Given the description of an element on the screen output the (x, y) to click on. 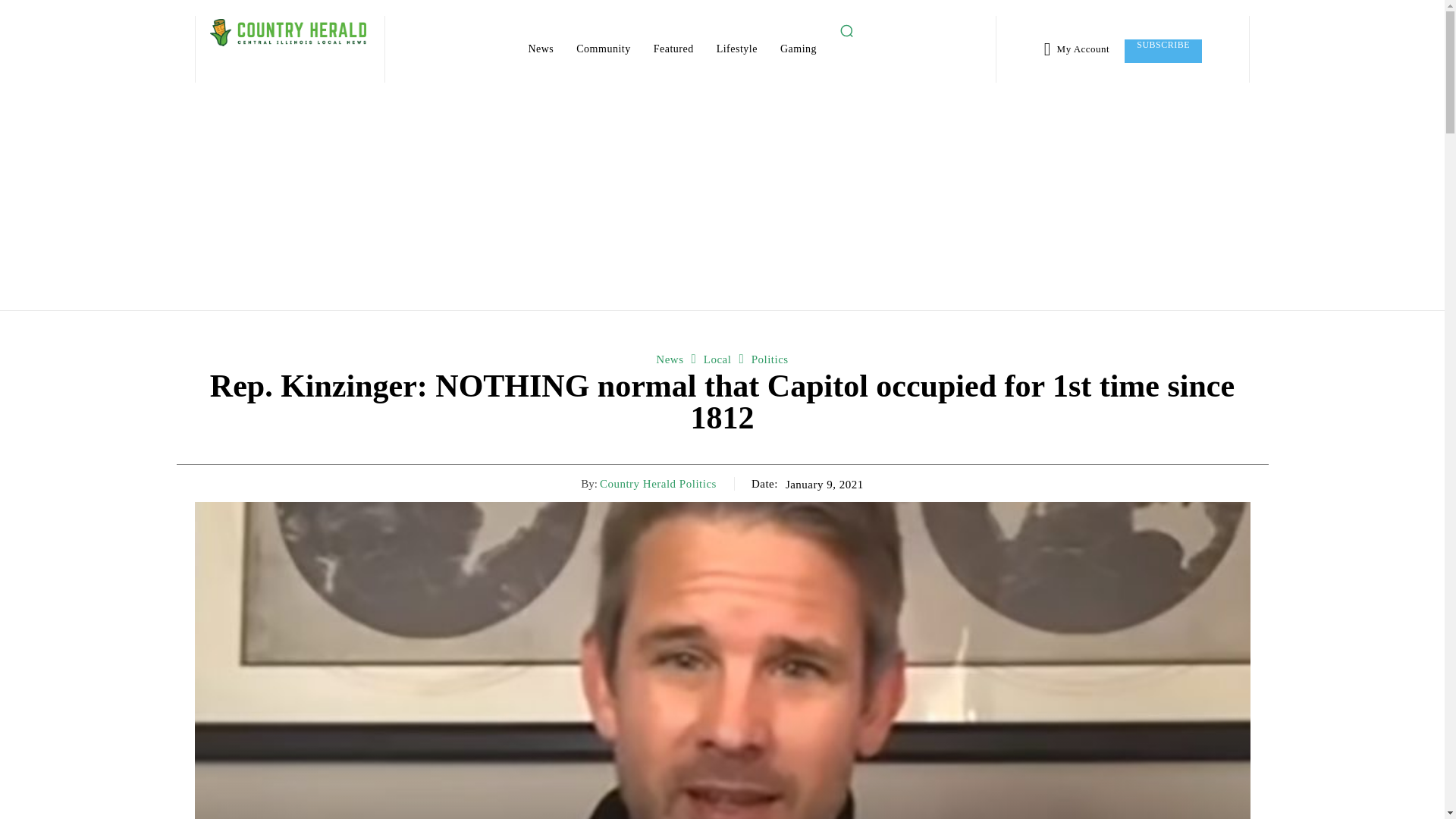
Subscribe (1163, 51)
